Given the description of an element on the screen output the (x, y) to click on. 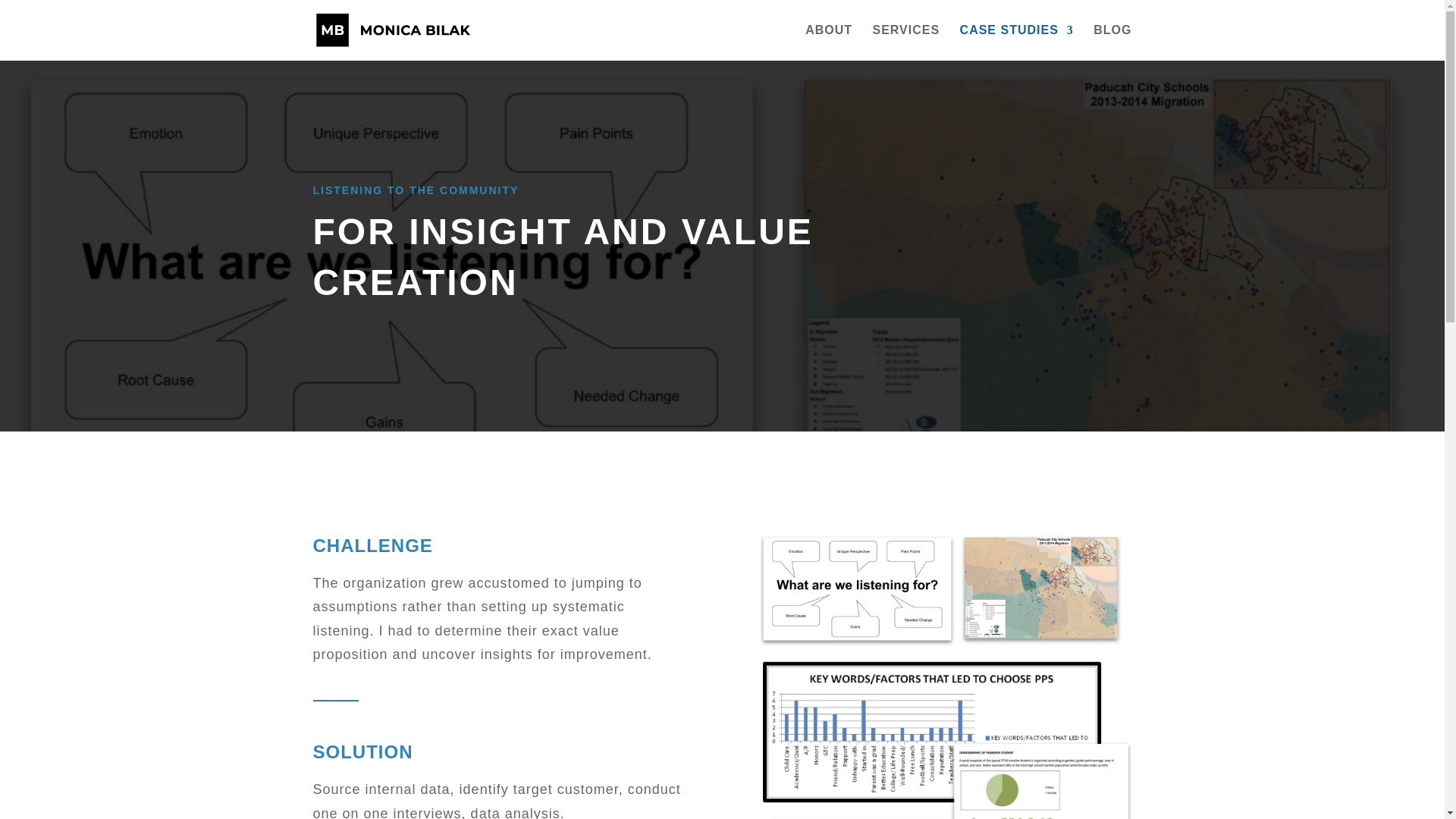
SERVICES (905, 42)
CASE STUDIES (1016, 42)
BLOG (1112, 42)
ABOUT (828, 42)
